Given the description of an element on the screen output the (x, y) to click on. 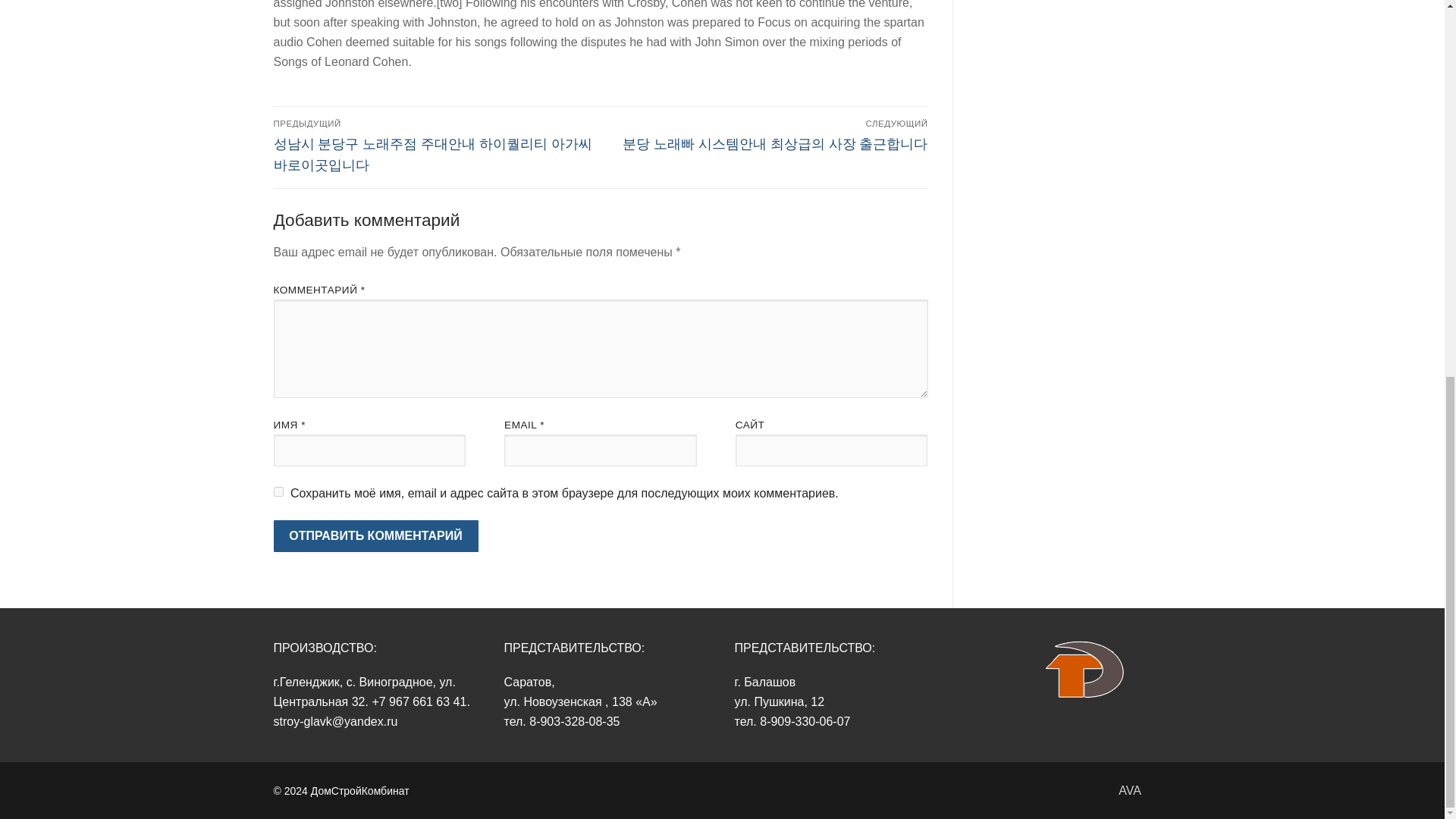
AVA (1129, 789)
yes (277, 491)
